Given the description of an element on the screen output the (x, y) to click on. 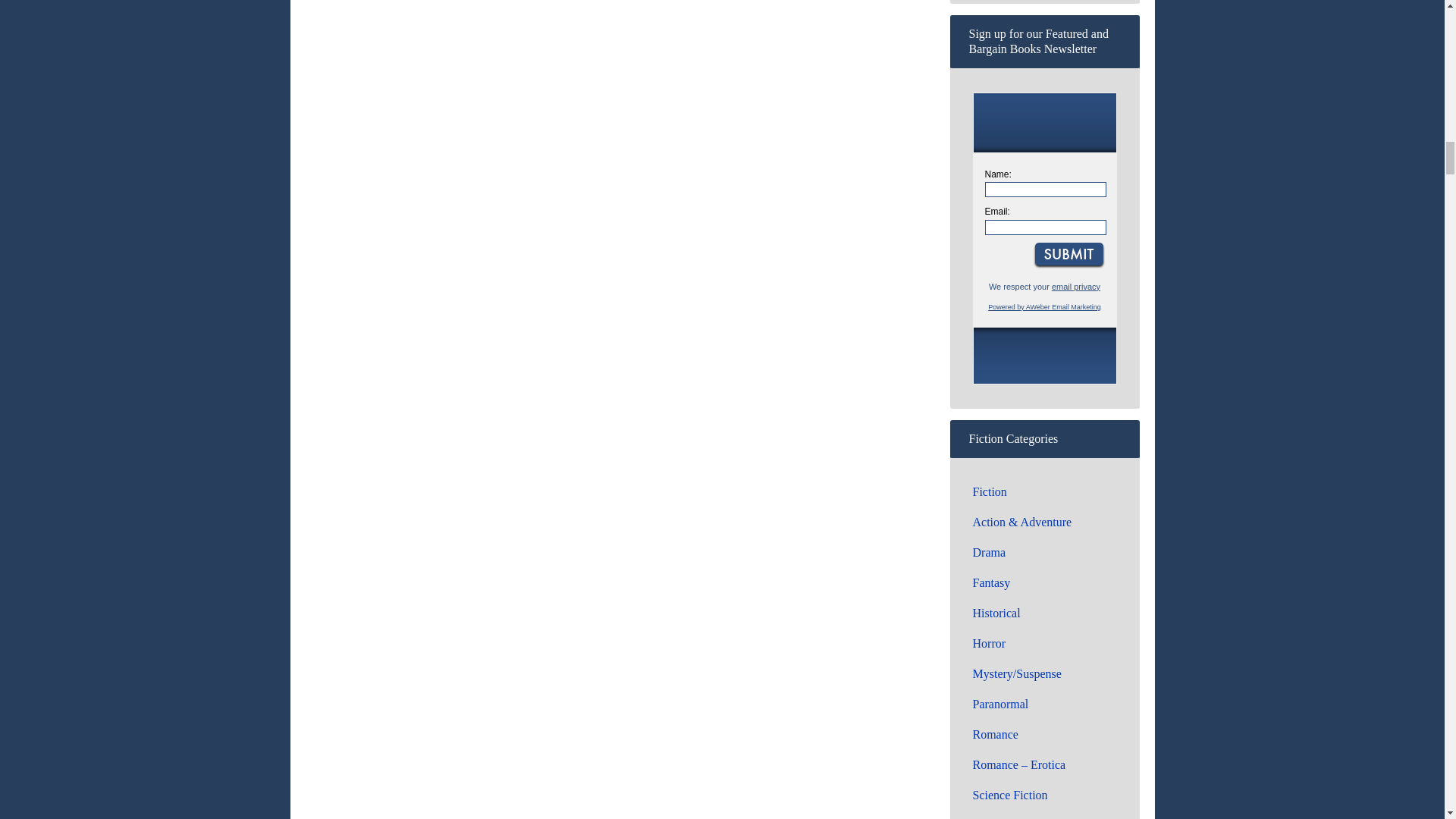
AWeber Email Marketing (1044, 307)
Privacy Policy (1075, 286)
